Given the description of an element on the screen output the (x, y) to click on. 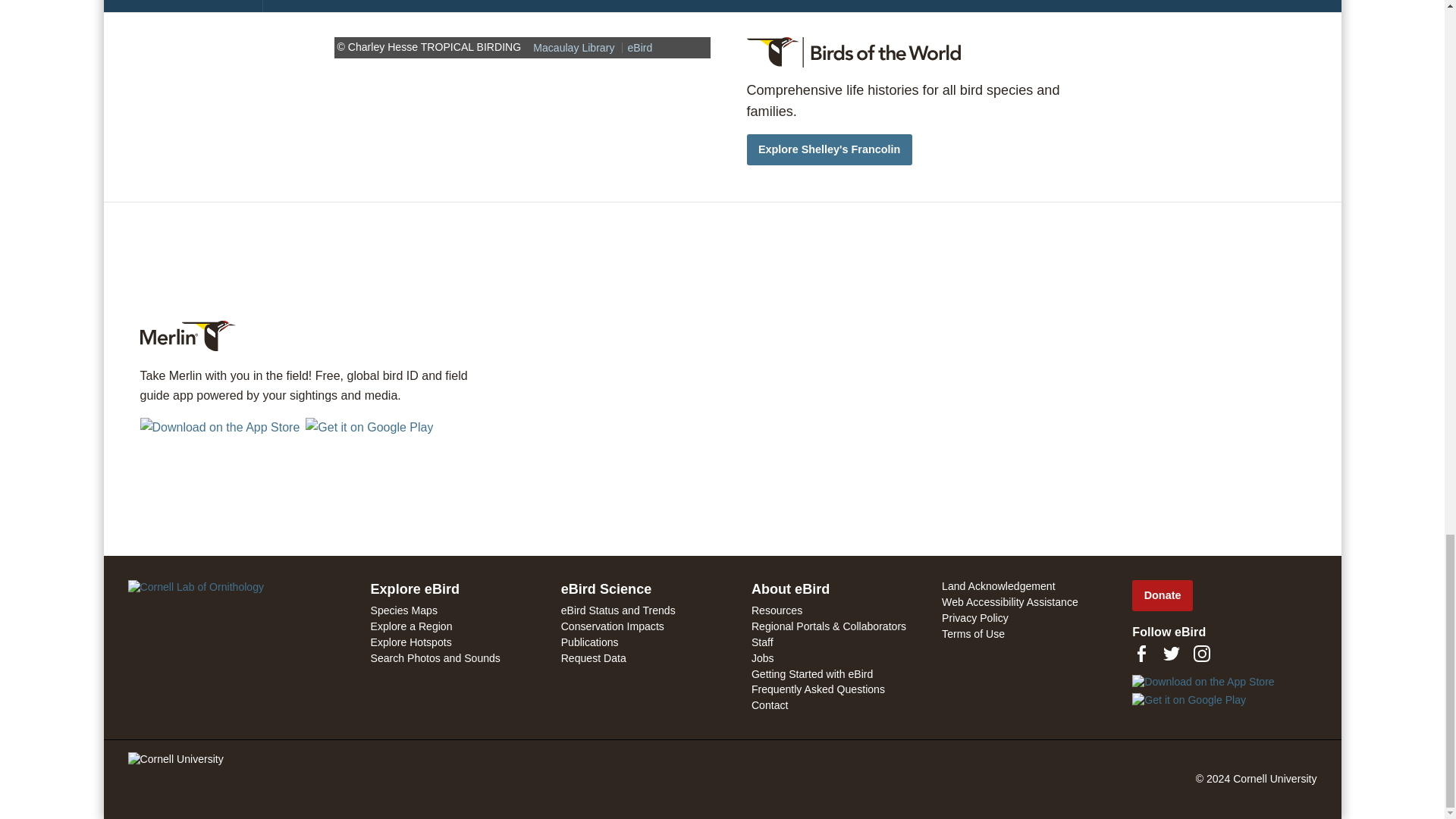
Find us on Facebook (1141, 653)
Follow us on Instagram (1201, 653)
Follow us on Twitter (1170, 653)
